Given the description of an element on the screen output the (x, y) to click on. 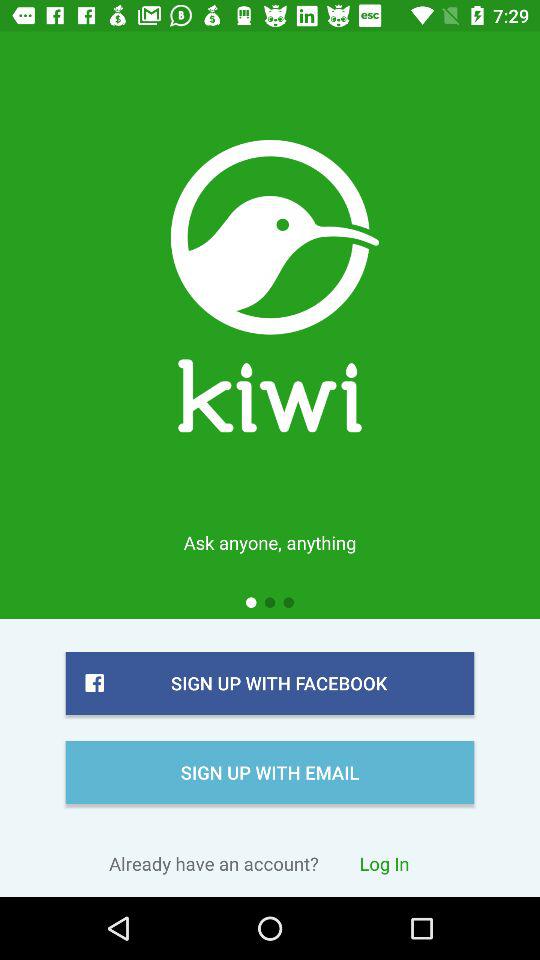
flip until the log in item (384, 863)
